Given the description of an element on the screen output the (x, y) to click on. 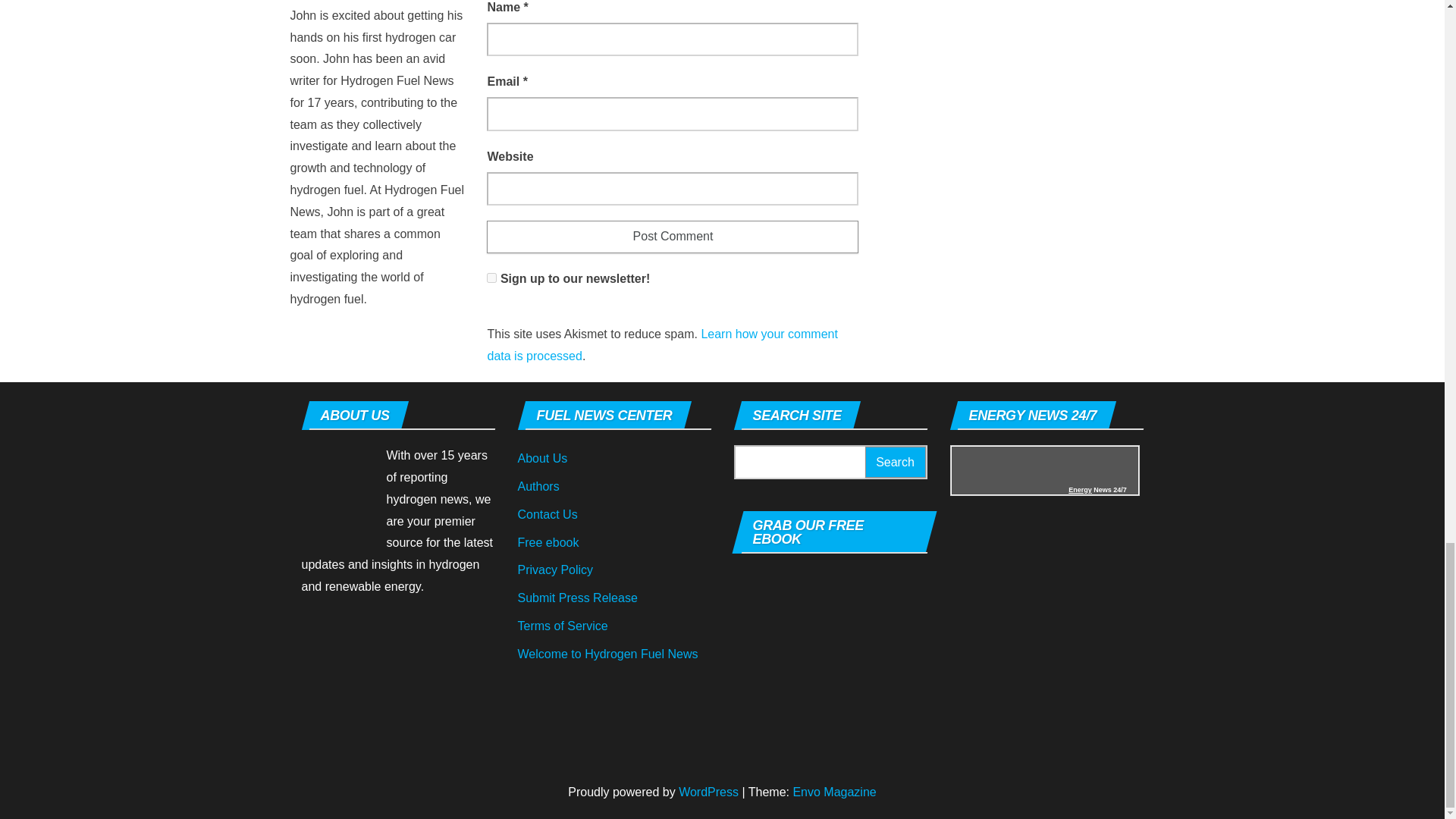
Search (894, 461)
Post Comment (672, 236)
1 (491, 277)
